Given the description of an element on the screen output the (x, y) to click on. 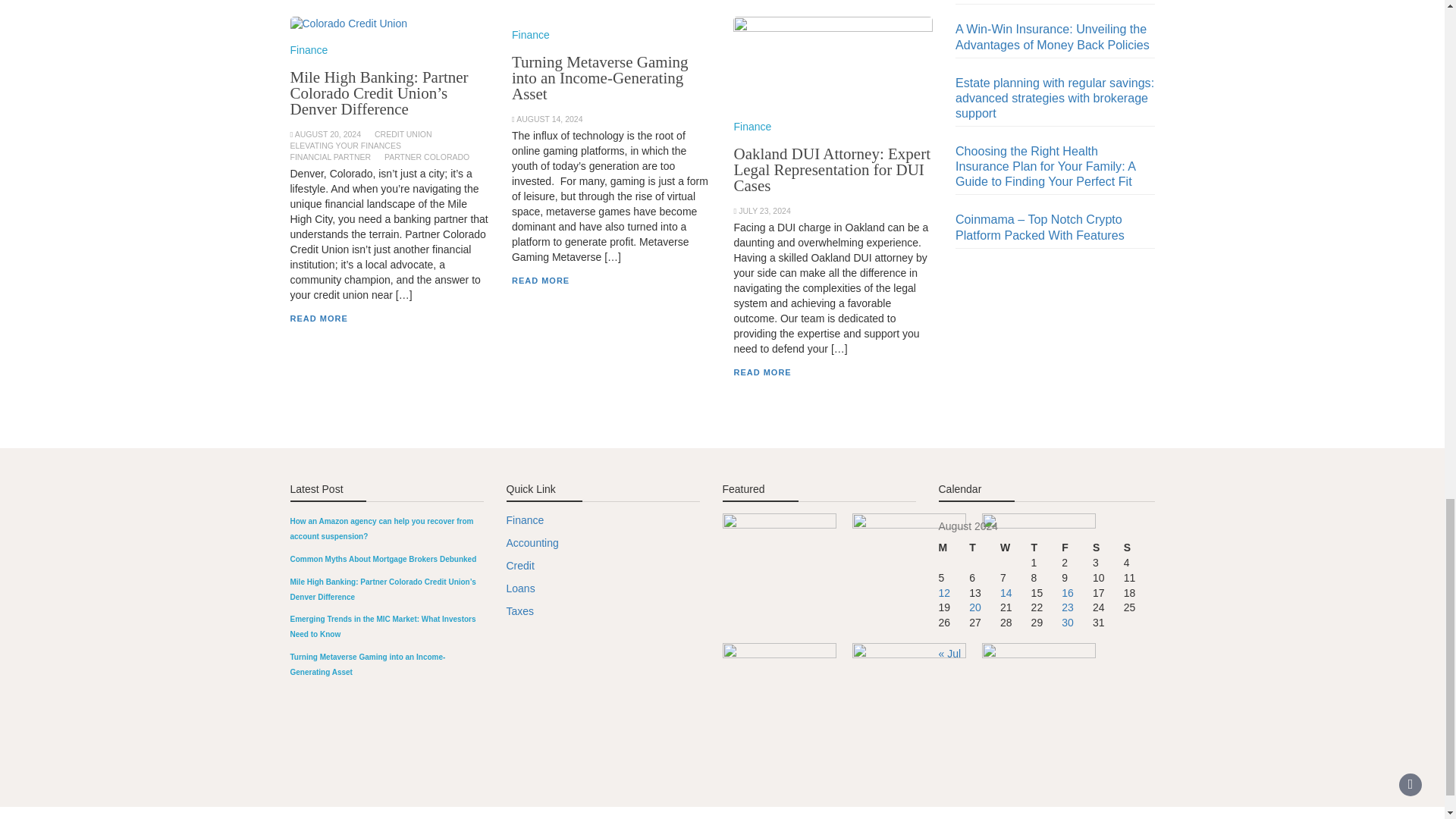
Wednesday (1015, 548)
READ MORE (318, 317)
Finance (308, 50)
READ MORE (761, 371)
Friday (1077, 548)
AUGUST 14, 2024 (549, 118)
Finance (752, 126)
Monday (954, 548)
Finance (531, 34)
